Given the description of an element on the screen output the (x, y) to click on. 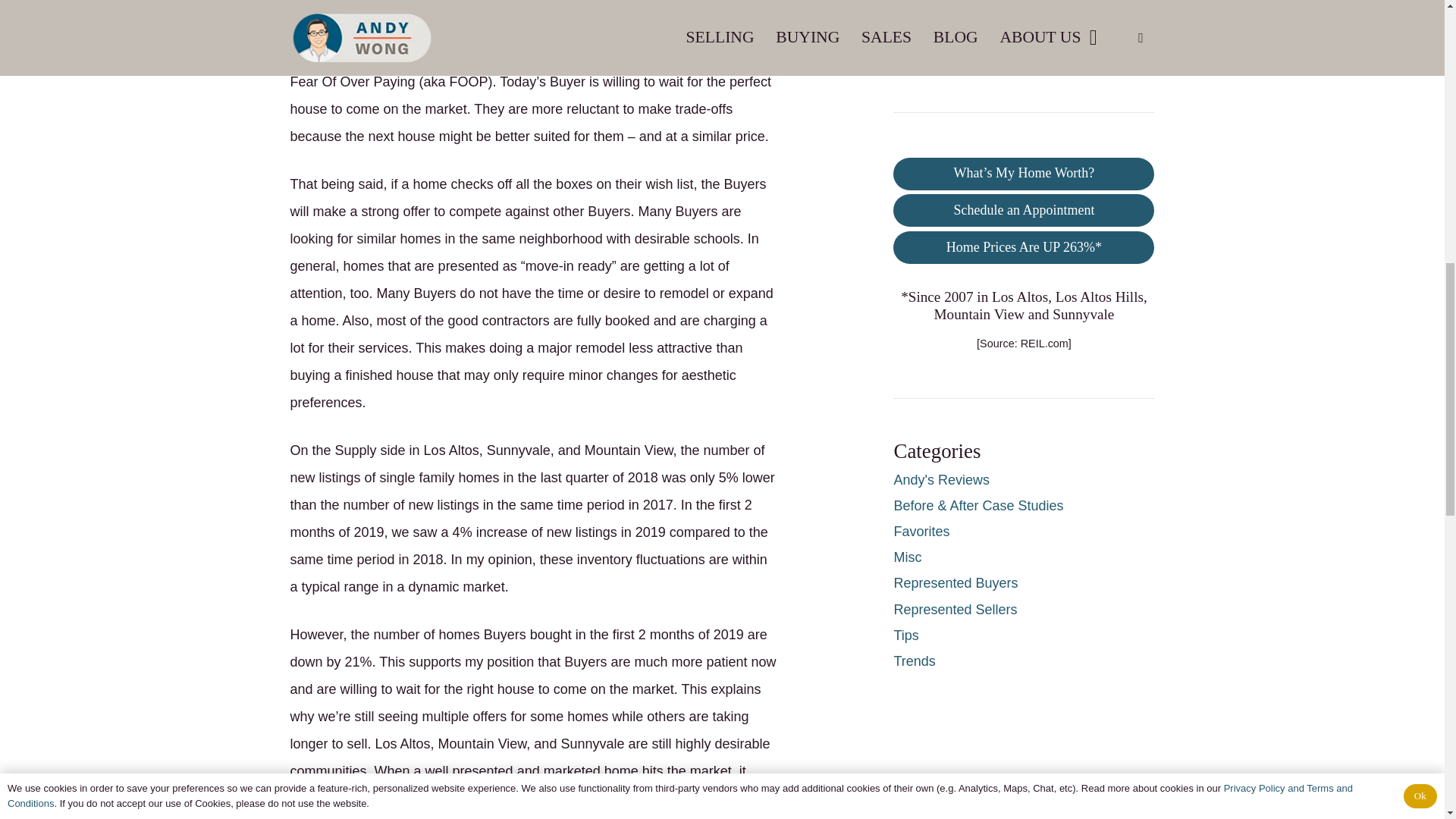
Trends (913, 661)
Andy's Reviews (940, 479)
Send (921, 47)
Tips (905, 635)
Back to top (1413, 26)
Misc (907, 557)
Represented Sellers (954, 609)
Schedule an Appointment (1023, 210)
Schedule an Appointment (1023, 210)
Send (921, 47)
